Given the description of an element on the screen output the (x, y) to click on. 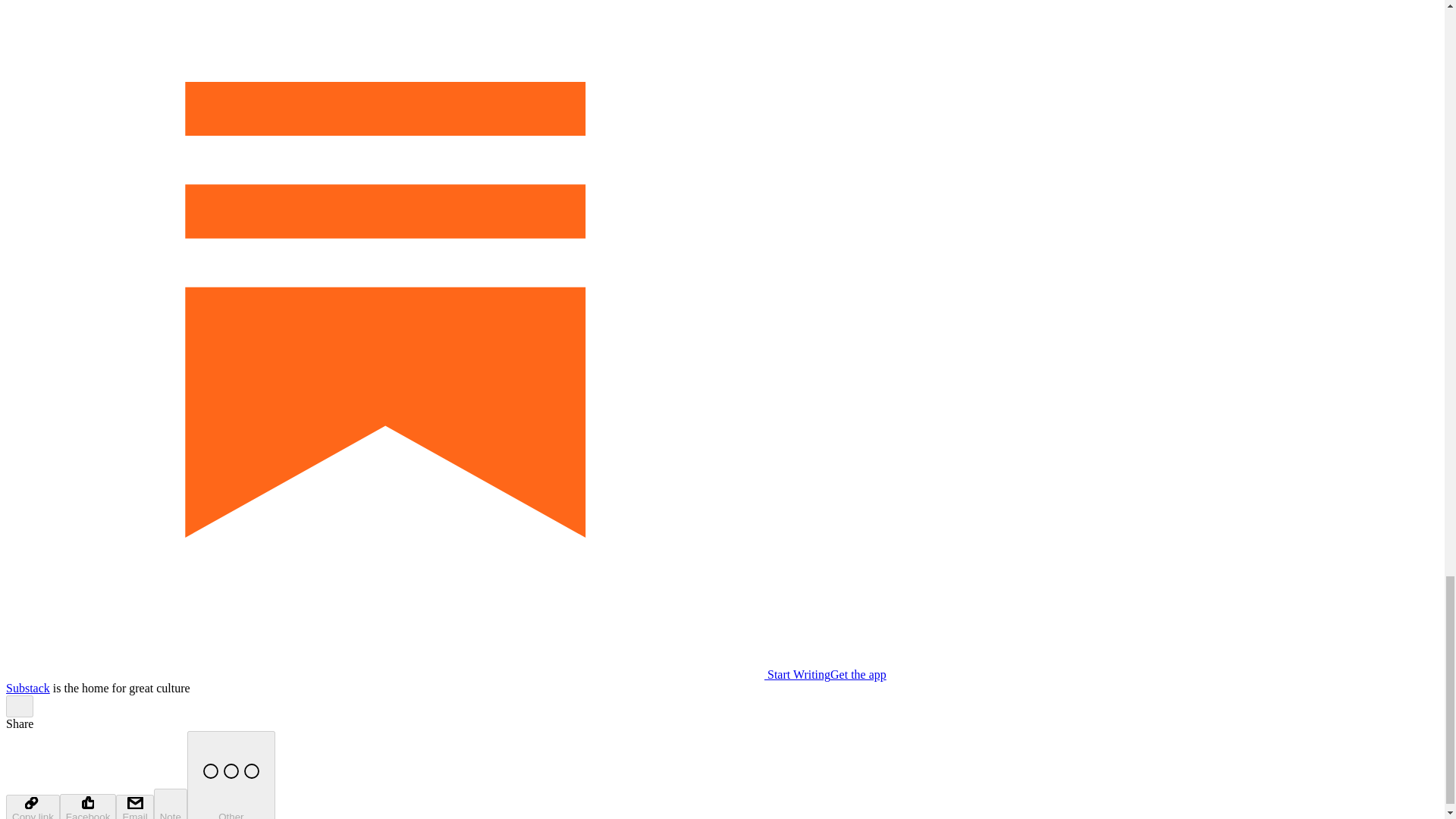
Substack (27, 687)
Start Writing (417, 674)
Get the app (857, 674)
